Given the description of an element on the screen output the (x, y) to click on. 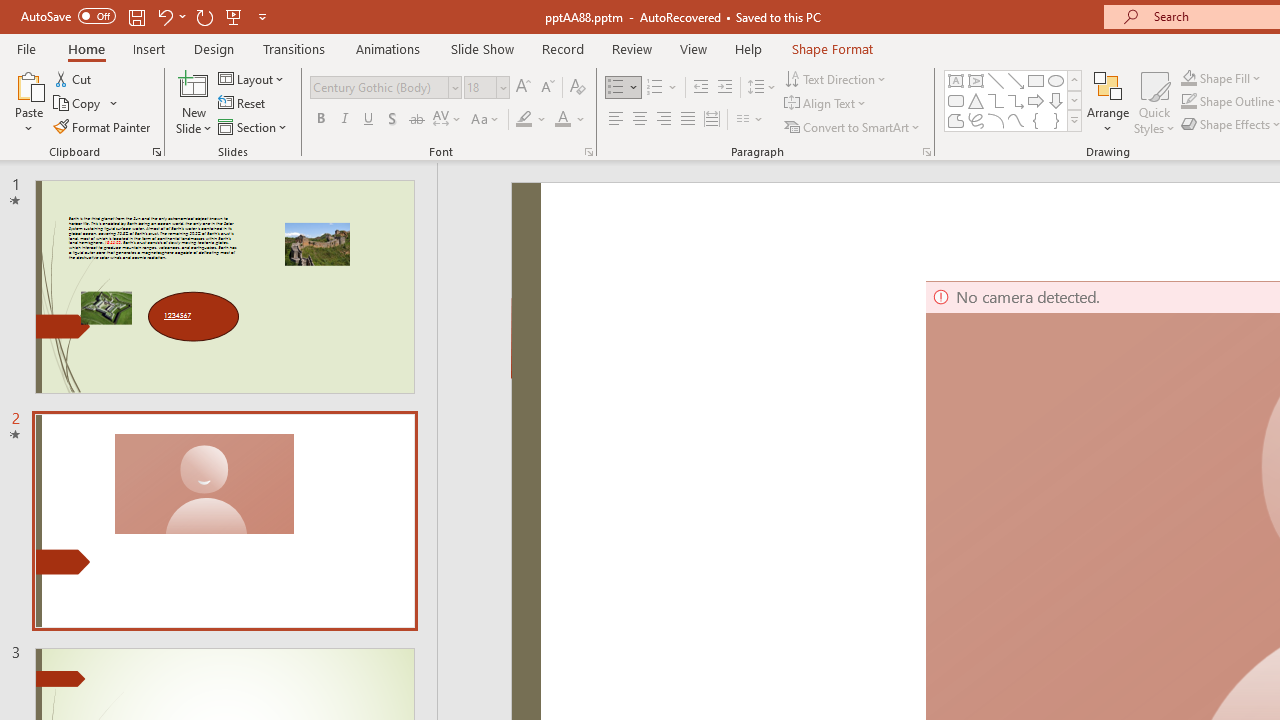
Color (173, 102)
Metal Frame (605, 100)
Double Frame, Black (829, 100)
Moderate Frame, Black (1108, 100)
Transparency (281, 102)
Reflected Rounded Rectangle (716, 100)
